Given the description of an element on the screen output the (x, y) to click on. 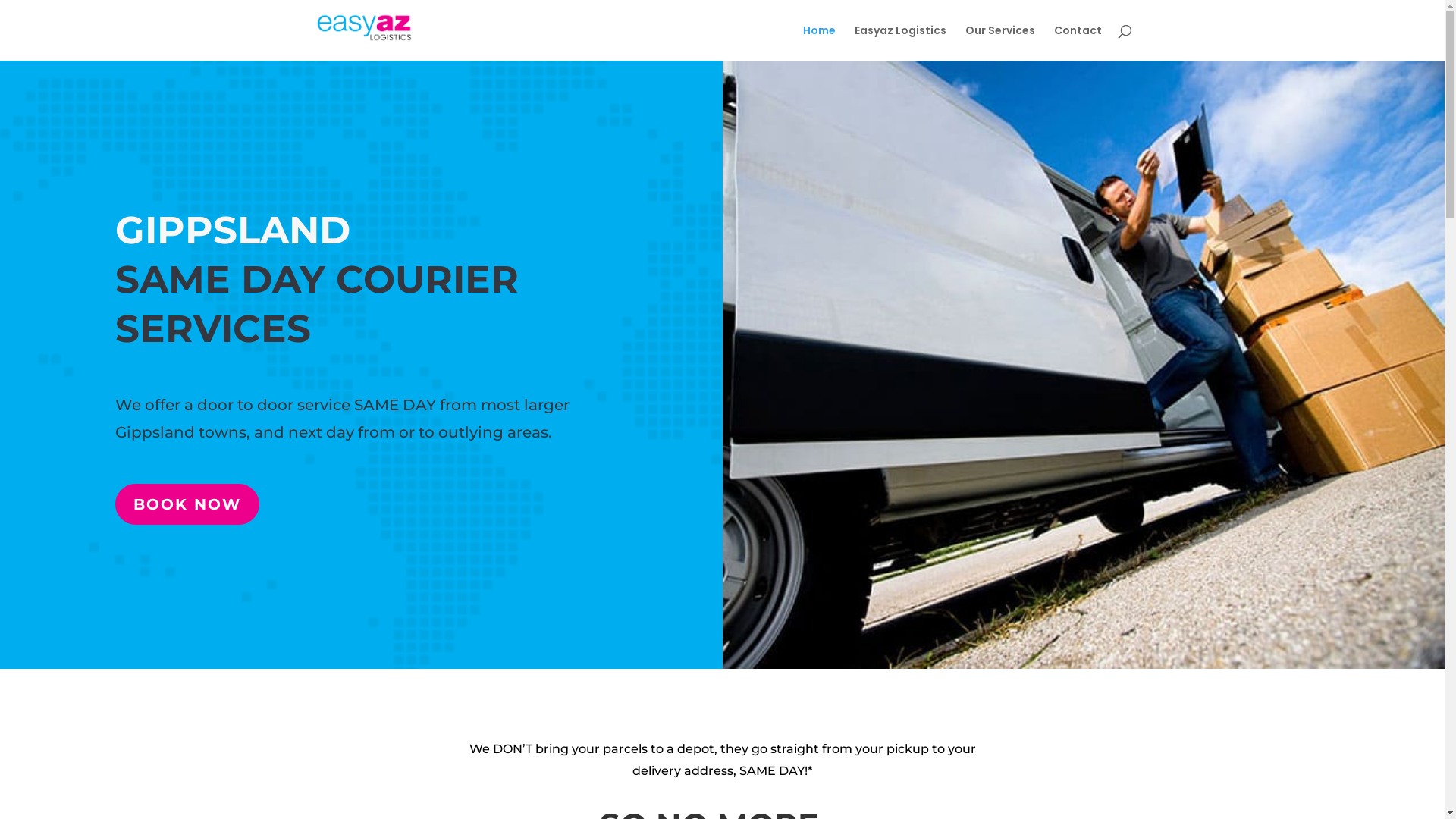
Home Element type: text (818, 42)
BOOK NOW Element type: text (187, 503)
Easyaz Logistics Element type: text (899, 42)
Our Services Element type: text (999, 42)
Contact Element type: text (1077, 42)
